Given the description of an element on the screen output the (x, y) to click on. 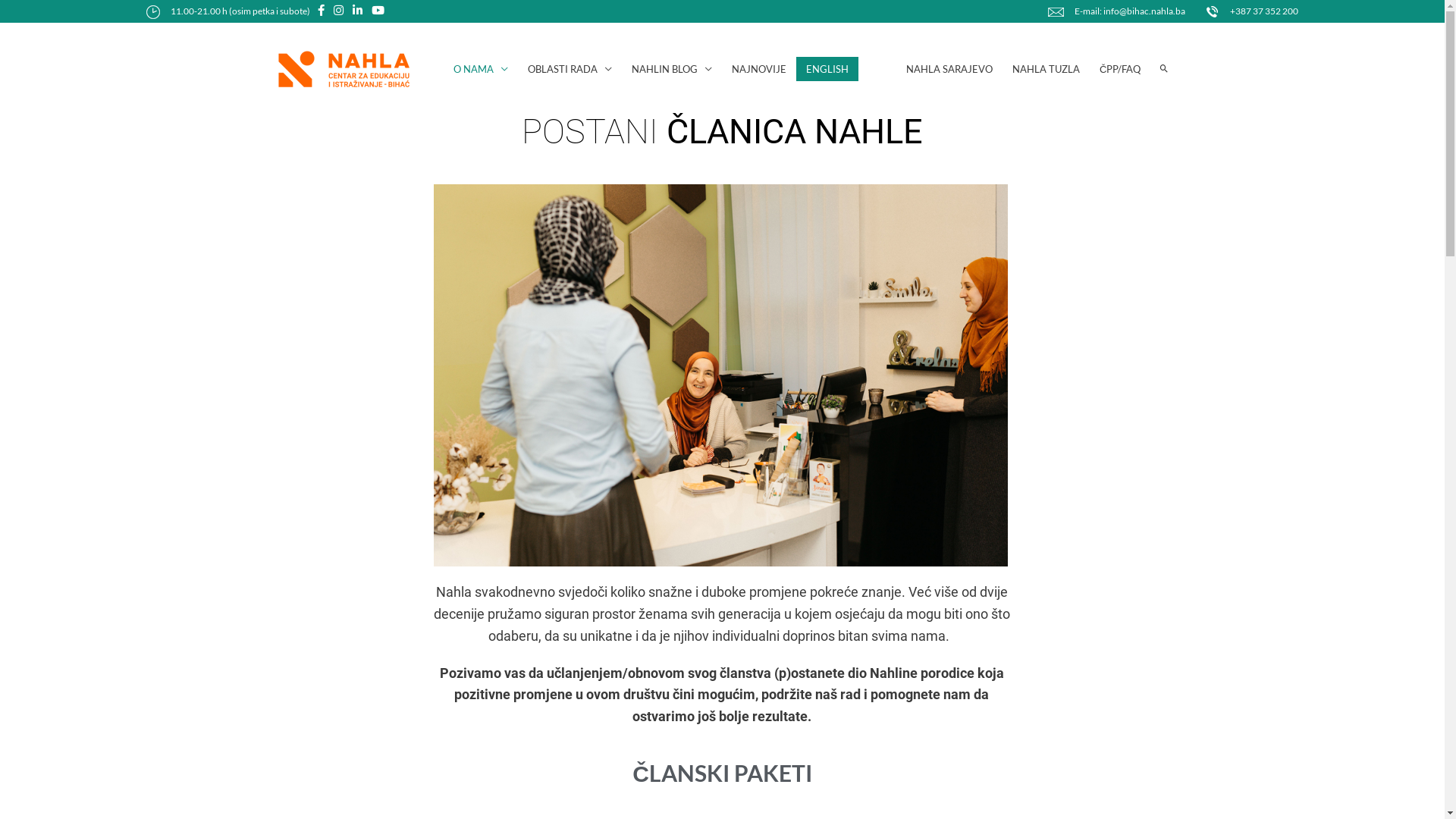
ENGLISH Element type: text (827, 68)
NAHLA TUZLA Element type: text (1045, 68)
Search Element type: text (35, 12)
OBLASTI RADA Element type: text (569, 68)
NAHLIN BLOG Element type: text (671, 68)
NAHLA SARAJEVO Element type: text (949, 68)
O NAMA Element type: text (480, 68)
NAJNOVIJE Element type: text (758, 68)
